Given the description of an element on the screen output the (x, y) to click on. 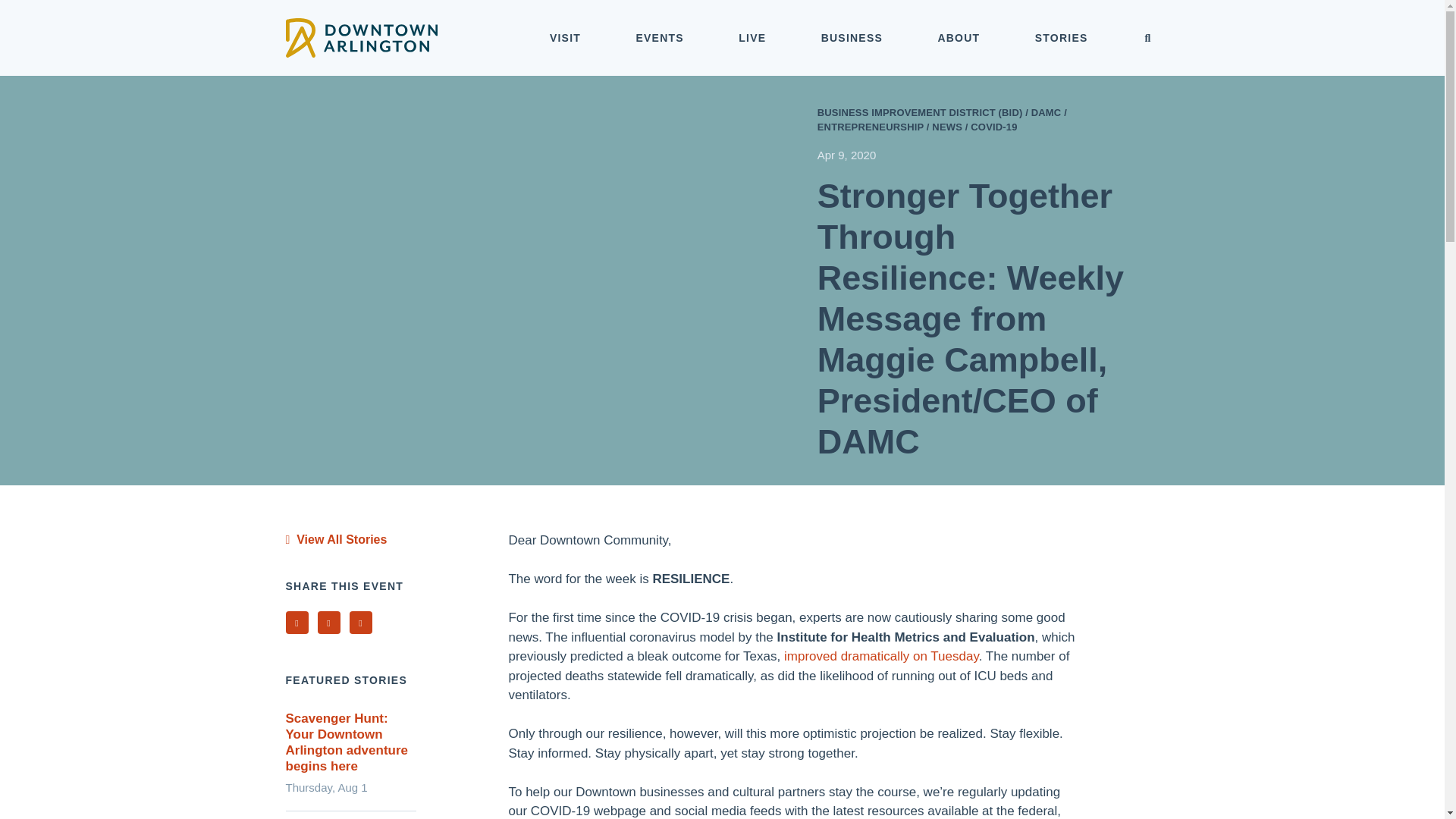
BUSINESS (851, 38)
LIVE (752, 38)
EVENTS (659, 38)
ABOUT (958, 38)
VISIT (565, 38)
